Given the description of an element on the screen output the (x, y) to click on. 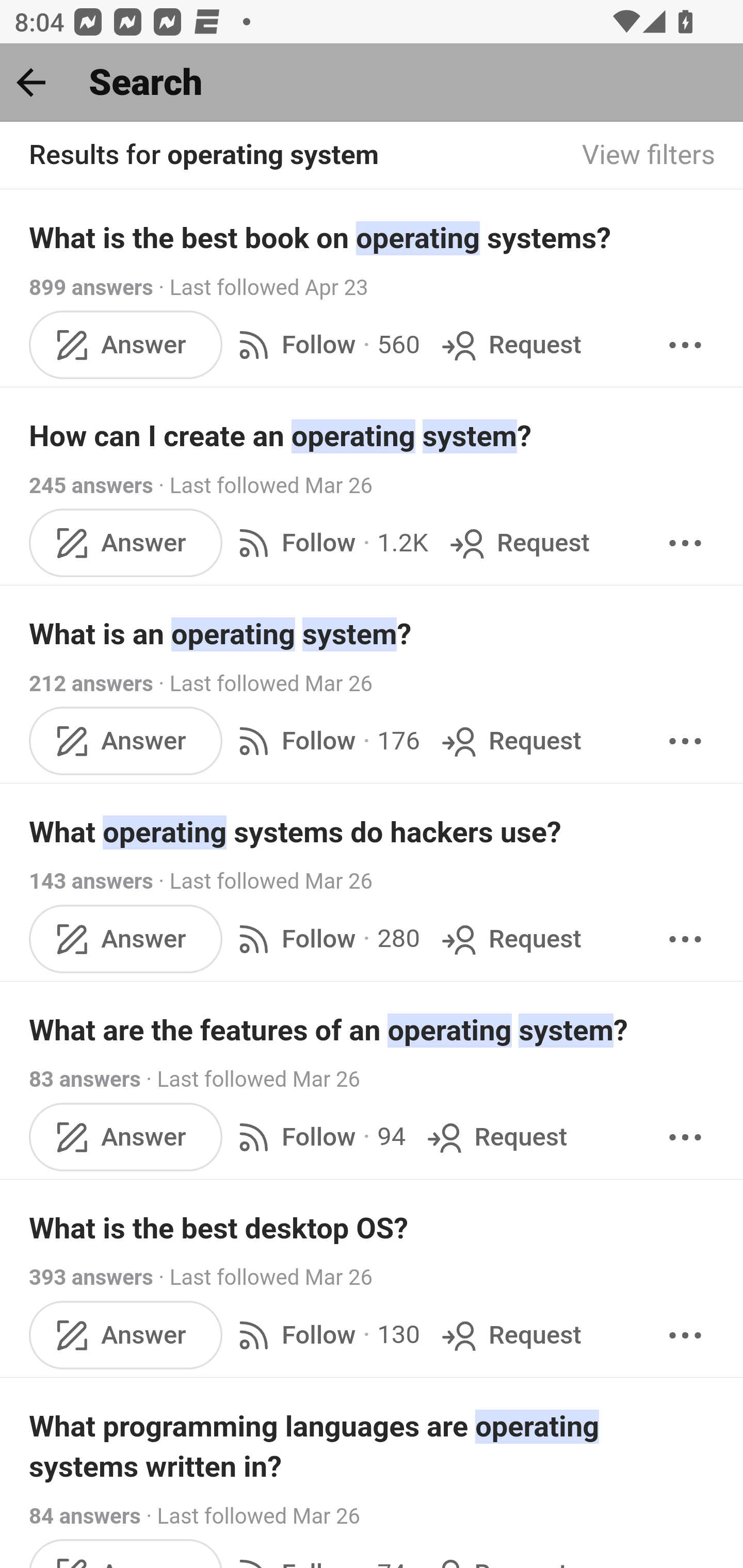
Back Search (371, 82)
Back (30, 82)
View filters (648, 155)
What is the best book on operating systems? (372, 237)
899 answers 899  answers (90, 287)
Answer (125, 343)
Follow · 560 (324, 343)
Request (509, 343)
More (684, 343)
How can I create an operating system? (372, 436)
245 answers 245  answers (90, 484)
Answer (125, 543)
Follow · 1.2K (329, 543)
Request (517, 543)
More (684, 543)
What is an operating system? (372, 634)
212 answers 212  answers (90, 684)
Answer (125, 741)
Follow · 176 (324, 741)
Request (509, 741)
More (684, 741)
What operating systems do hackers use? (372, 832)
143 answers 143  answers (90, 881)
Answer (125, 939)
Follow · 280 (324, 939)
Request (509, 939)
More (684, 939)
What are the features of an operating system? (372, 1029)
83 answers 83  answers (84, 1079)
Answer (125, 1137)
Follow · 94 (317, 1137)
Request (495, 1137)
More (684, 1137)
What is the best desktop OS? (372, 1227)
393 answers 393  answers (90, 1277)
Answer (125, 1334)
Follow · 130 (324, 1334)
Request (509, 1334)
More (684, 1334)
